Given the description of an element on the screen output the (x, y) to click on. 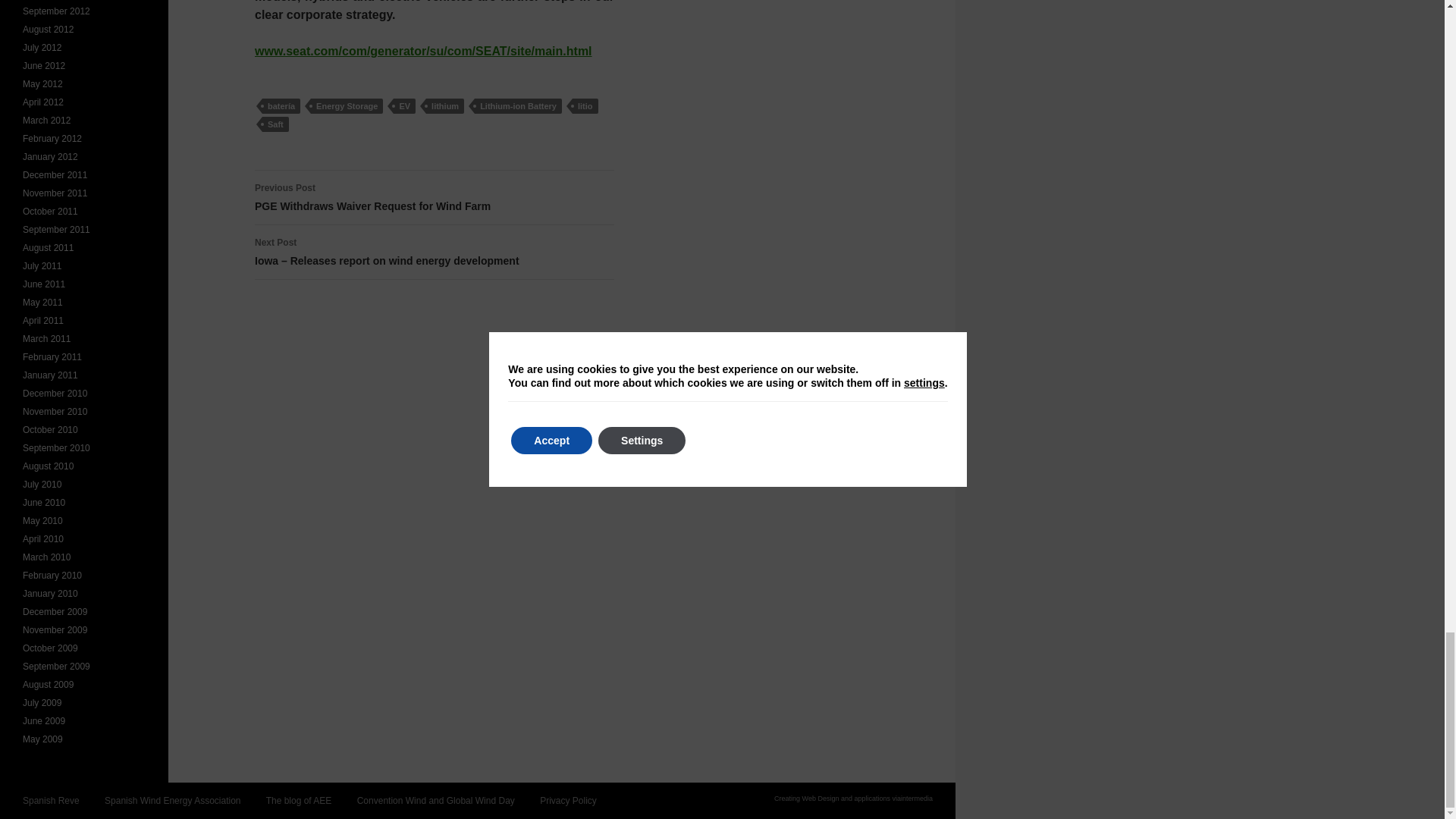
lithium (445, 105)
litio (585, 105)
Energy Storage (434, 197)
EV (346, 105)
Saft (403, 105)
Lithium-ion Battery (275, 124)
